Given the description of an element on the screen output the (x, y) to click on. 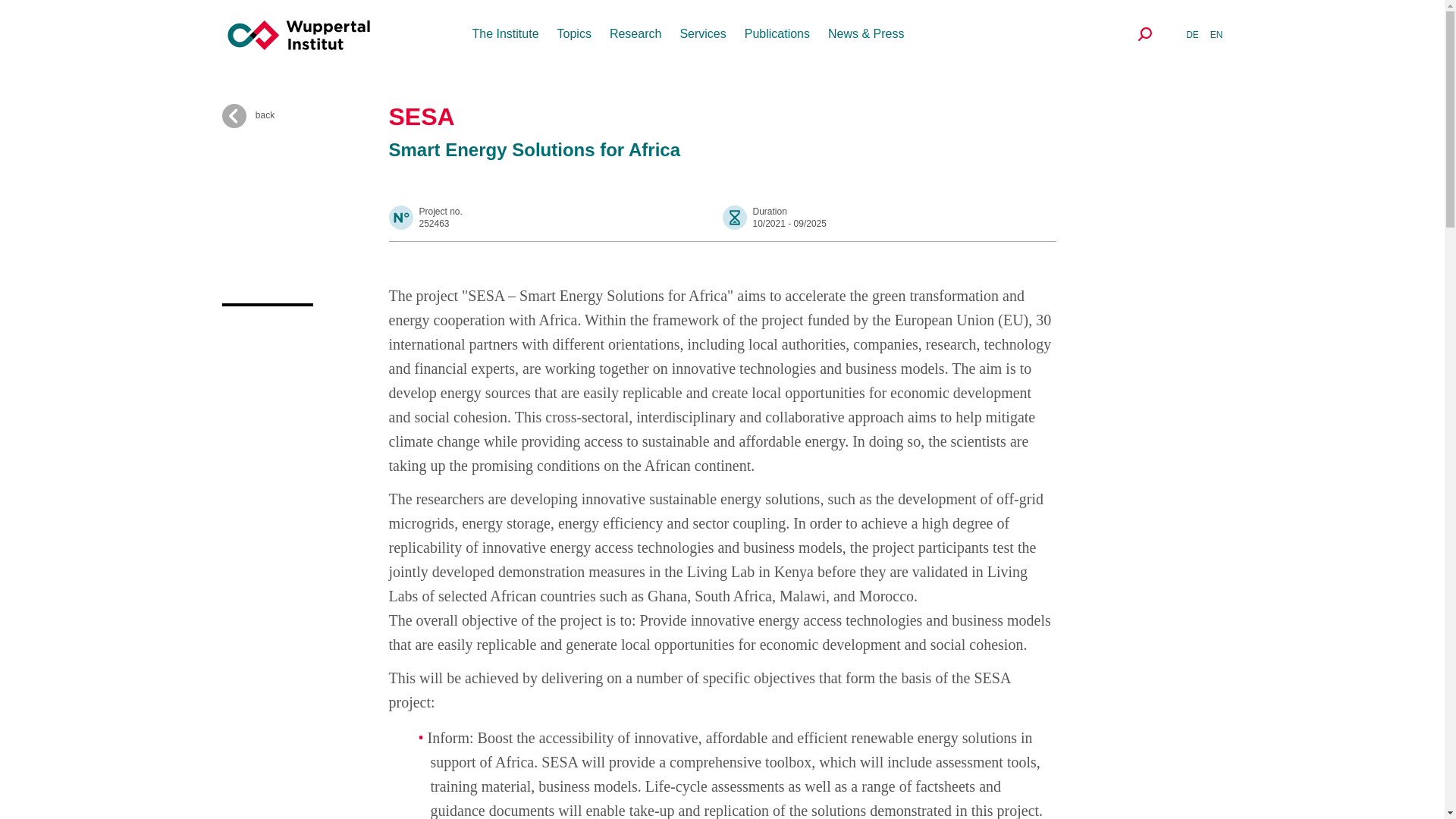
Topics (573, 33)
Services (702, 33)
The Institute (505, 33)
DE (1192, 34)
Publications (776, 33)
back (304, 115)
EN (1216, 34)
Research (634, 33)
